Given the description of an element on the screen output the (x, y) to click on. 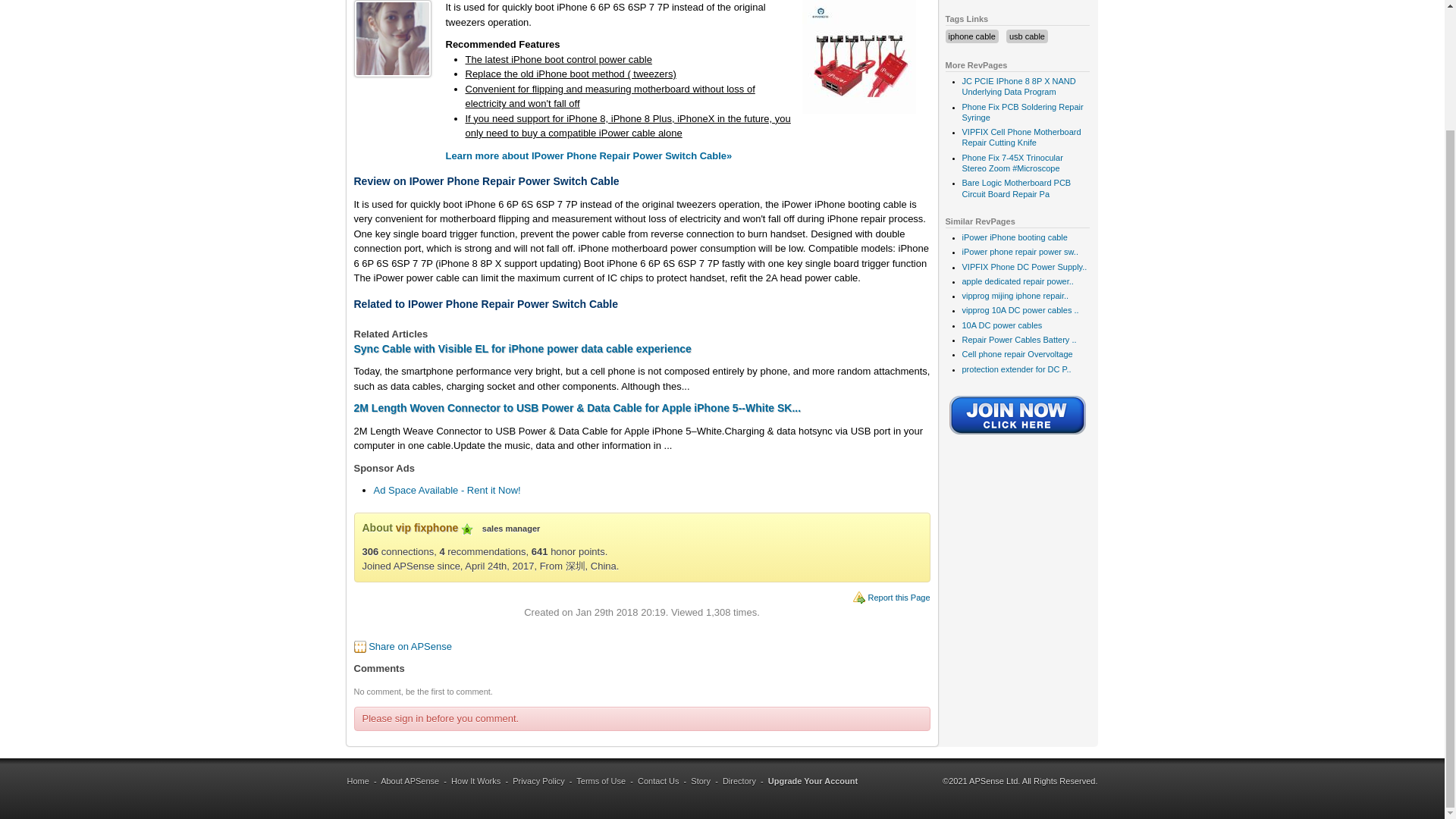
Share on APSense (409, 645)
Senior (467, 529)
Join APSense Social Network (1017, 435)
VIPFIX Cell Phone Motherboard Repair Cutting Knife (1020, 137)
usb cable (1027, 35)
JC PCIE IPhone 8 8P X NAND Underlying Data Program (1017, 86)
vip fixphone (427, 527)
Report this Page (898, 596)
Share on APSense (409, 645)
